Given the description of an element on the screen output the (x, y) to click on. 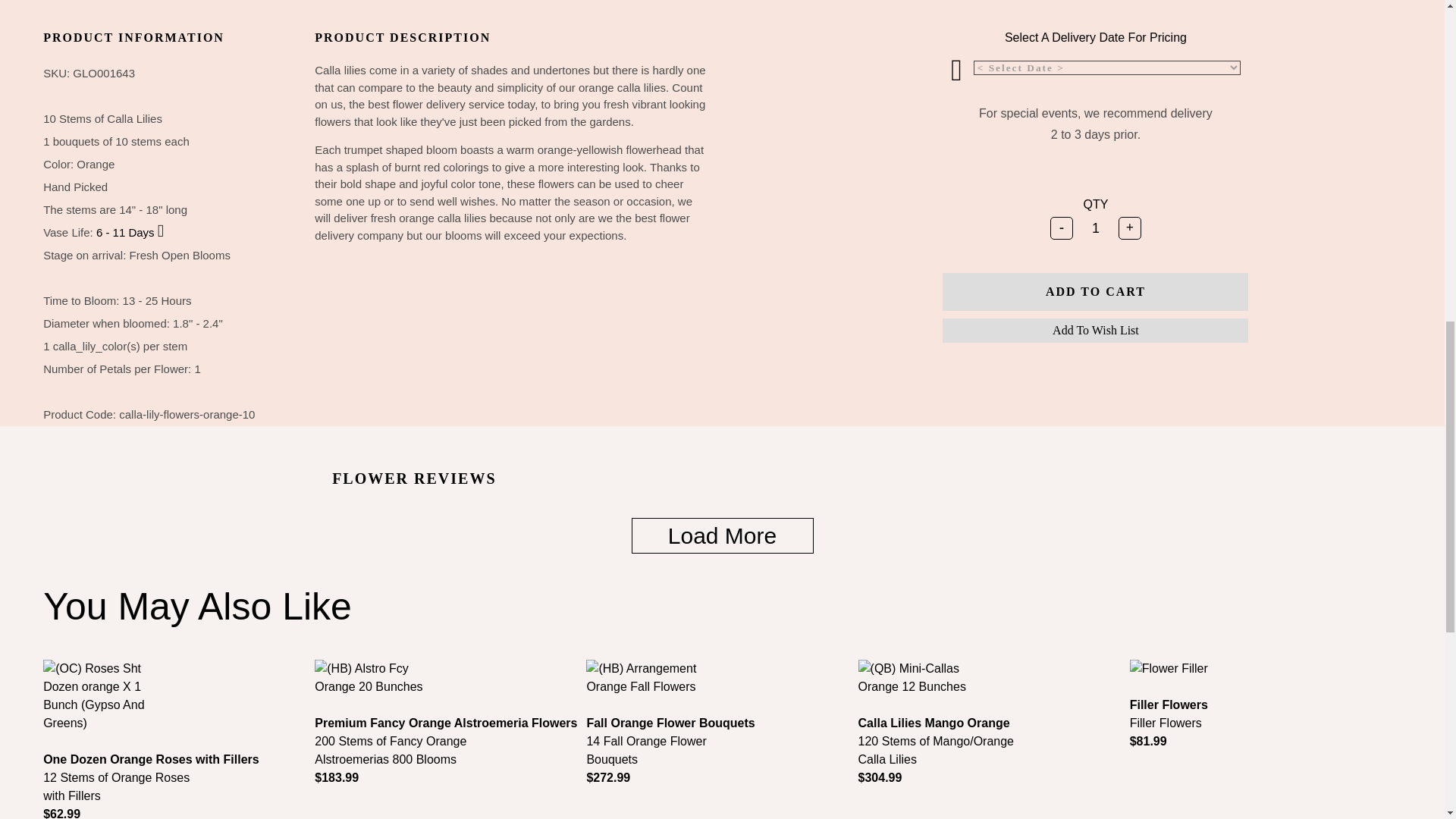
Add To Wish List (1094, 330)
Flower Filler (1168, 669)
Flower Filler (1264, 678)
